Given the description of an element on the screen output the (x, y) to click on. 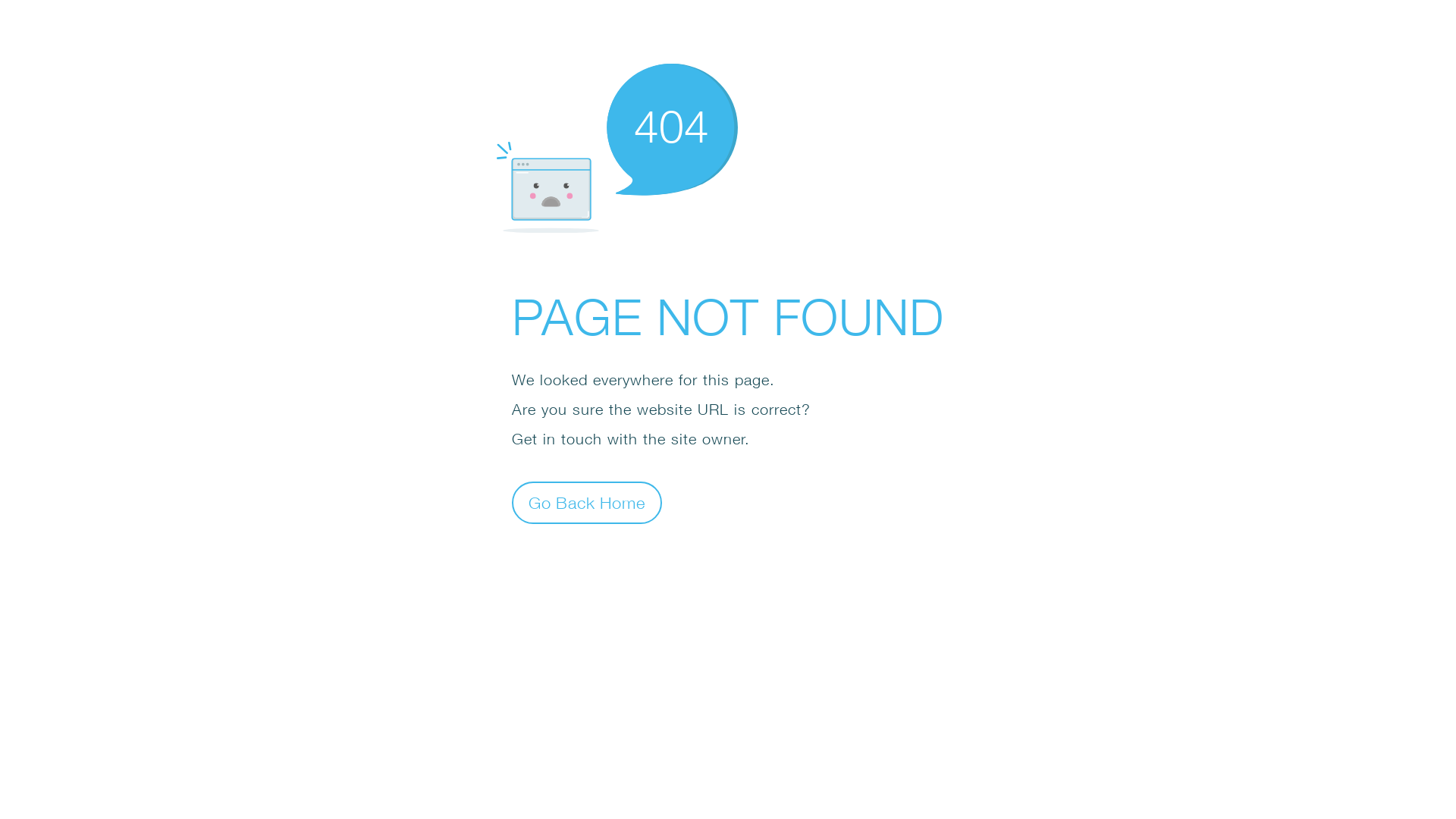
Go Back Home Element type: text (586, 502)
